Given the description of an element on the screen output the (x, y) to click on. 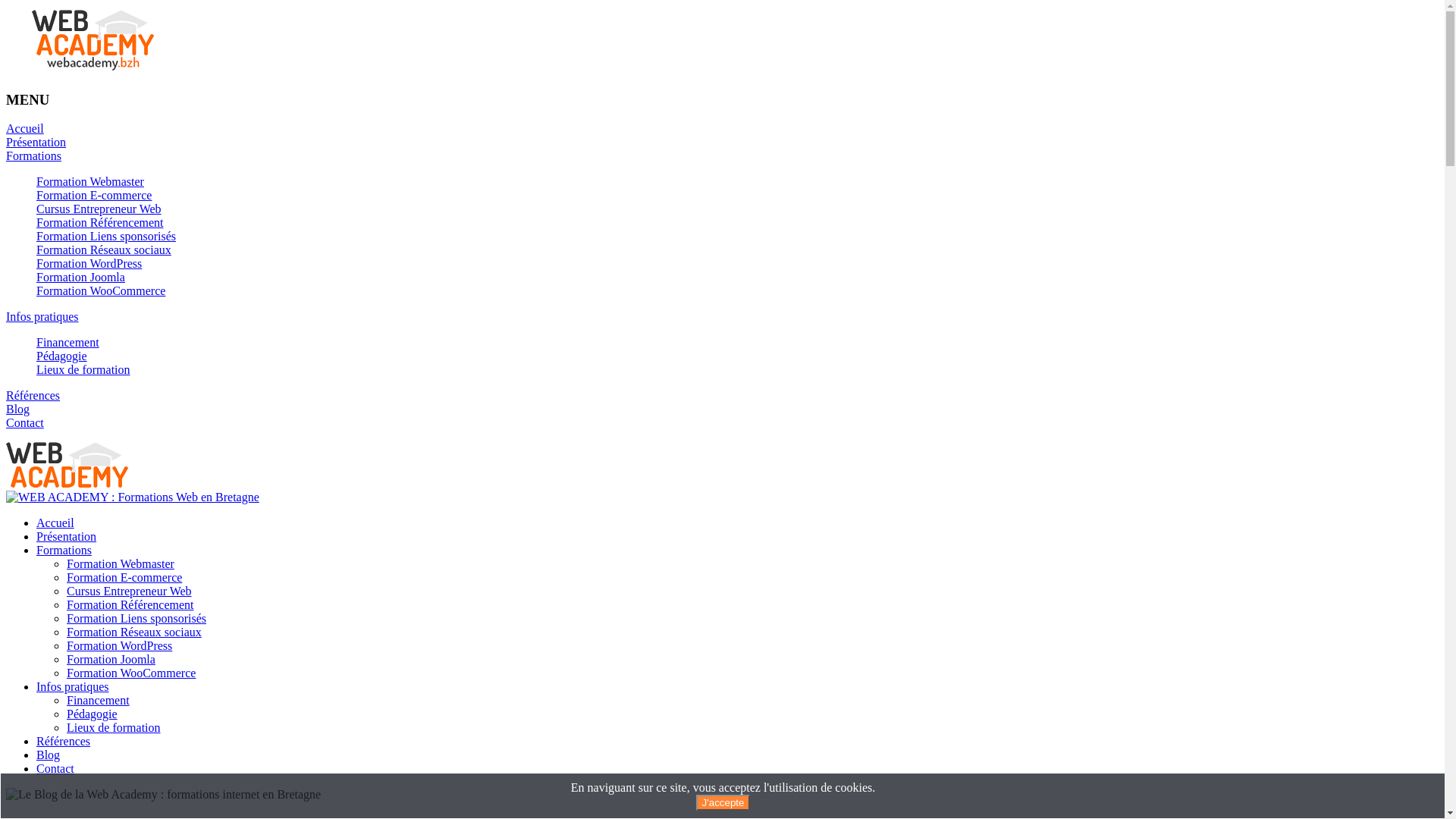
Lieux de formation Element type: text (113, 727)
Formation WooCommerce Element type: text (130, 672)
WEB ACADEMY : Formations Web en Bretagne Element type: hover (132, 496)
WEB ACADEMY : Formations Web en Bretagne Element type: hover (67, 482)
Financement Element type: text (67, 341)
Formations Element type: text (33, 155)
Formation E-commerce Element type: text (124, 577)
Cursus Entrepreneur Web Element type: text (128, 590)
Contact Element type: text (55, 768)
Cursus Entrepreneur Web Element type: text (98, 208)
Formation WooCommerce Element type: text (100, 290)
Formation Webmaster Element type: text (90, 181)
Blog Element type: text (47, 754)
Infos pratiques Element type: text (72, 686)
Lieux de formation Element type: text (83, 369)
Formation Joomla Element type: text (110, 658)
Financement Element type: text (97, 699)
Formation WordPress Element type: text (88, 263)
Formation Joomla Element type: text (80, 276)
Accueil Element type: text (55, 522)
Contact Element type: text (24, 422)
Formation Webmaster Element type: text (120, 563)
Blog Element type: text (17, 408)
Formation E-commerce Element type: text (93, 194)
Infos pratiques Element type: text (42, 316)
Formations Element type: text (63, 549)
Accueil Element type: text (24, 128)
J'accepte Element type: text (723, 802)
Formation WordPress Element type: text (119, 645)
